Given the description of an element on the screen output the (x, y) to click on. 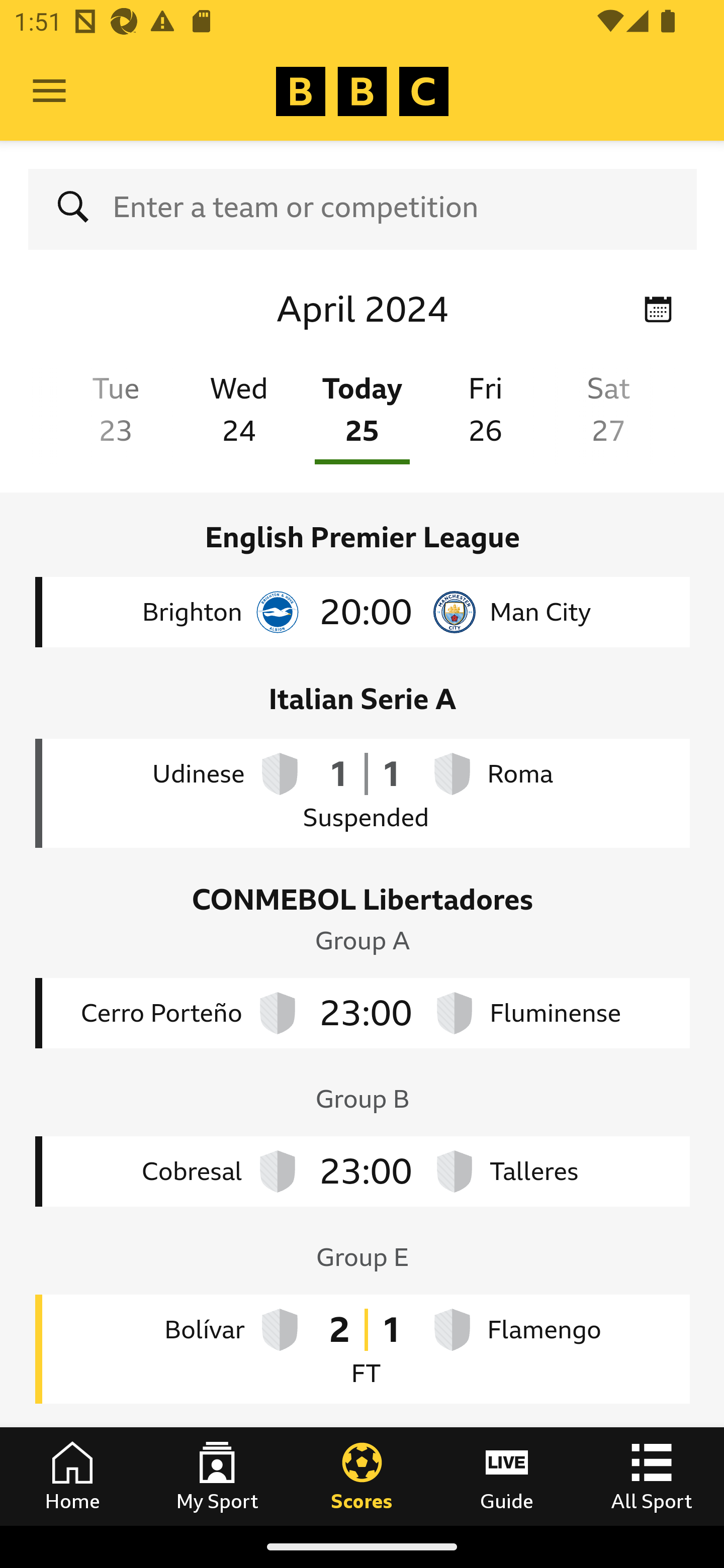
Open Menu (49, 91)
Home (72, 1475)
My Sport (216, 1475)
Guide (506, 1475)
All Sport (651, 1475)
